Given the description of an element on the screen output the (x, y) to click on. 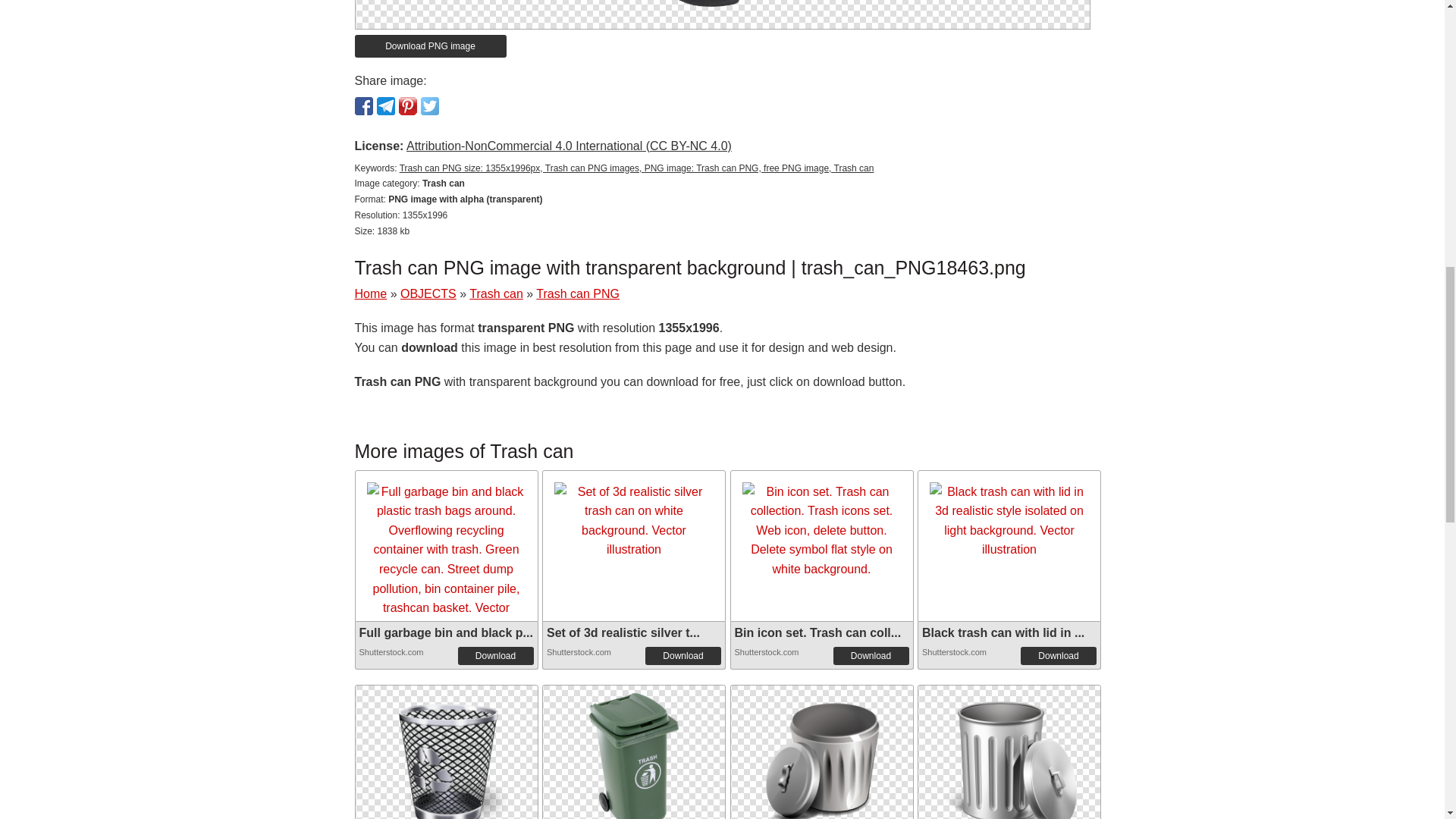
Trash can PNG (1008, 752)
Full garbage bin and black p... (445, 632)
OBJECTS (428, 293)
Share in Telegram (384, 106)
Download (1058, 656)
Trash can PNG (821, 752)
Trash can (495, 293)
Set of 3d realistic silver t... (623, 632)
Trash can PNG (821, 756)
Trash can PNG (445, 756)
Trash can PNG (634, 756)
Download PNG image (430, 46)
